Given the description of an element on the screen output the (x, y) to click on. 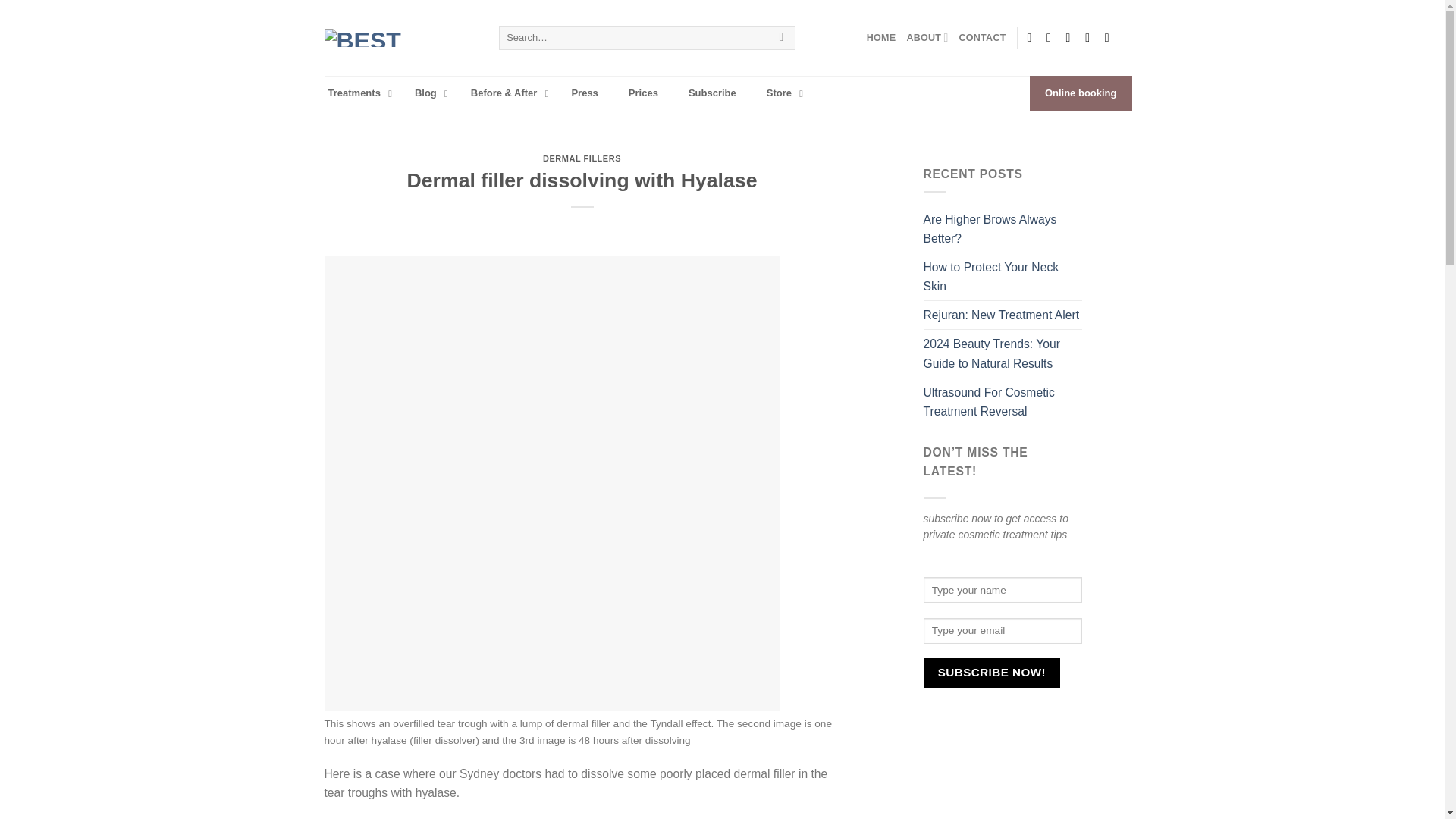
Follow on YouTube (1110, 37)
Follow on Facebook (1032, 37)
Treatments (355, 93)
Follow on Instagram (1052, 37)
Subscribe now! (992, 672)
HOME (881, 37)
Send us an email (1071, 37)
ABOUT (926, 37)
Call us (1090, 37)
CONTACT (982, 37)
